Given the description of an element on the screen output the (x, y) to click on. 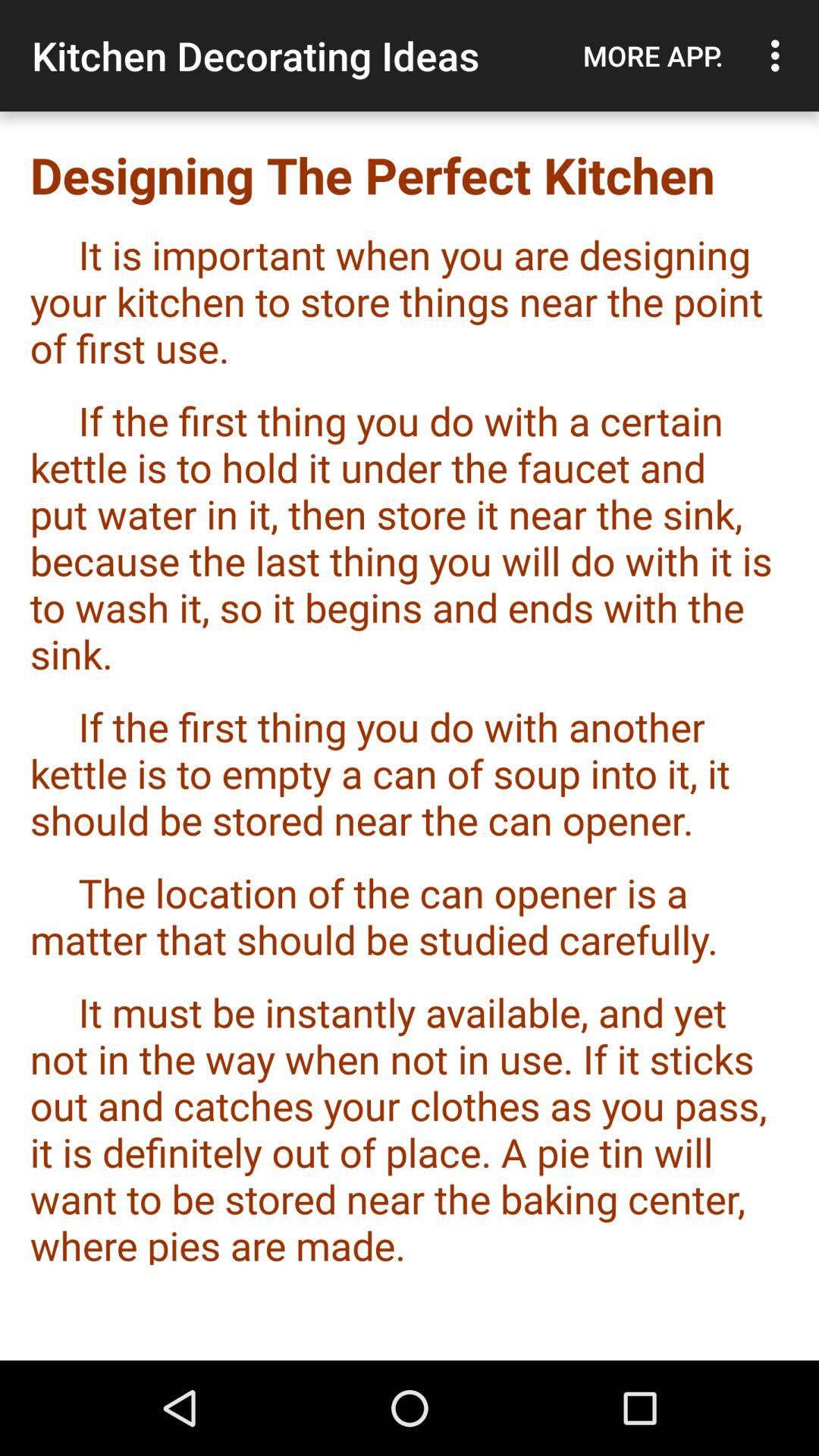
turn off the app to the right of the kitchen decorating ideas app (653, 55)
